Given the description of an element on the screen output the (x, y) to click on. 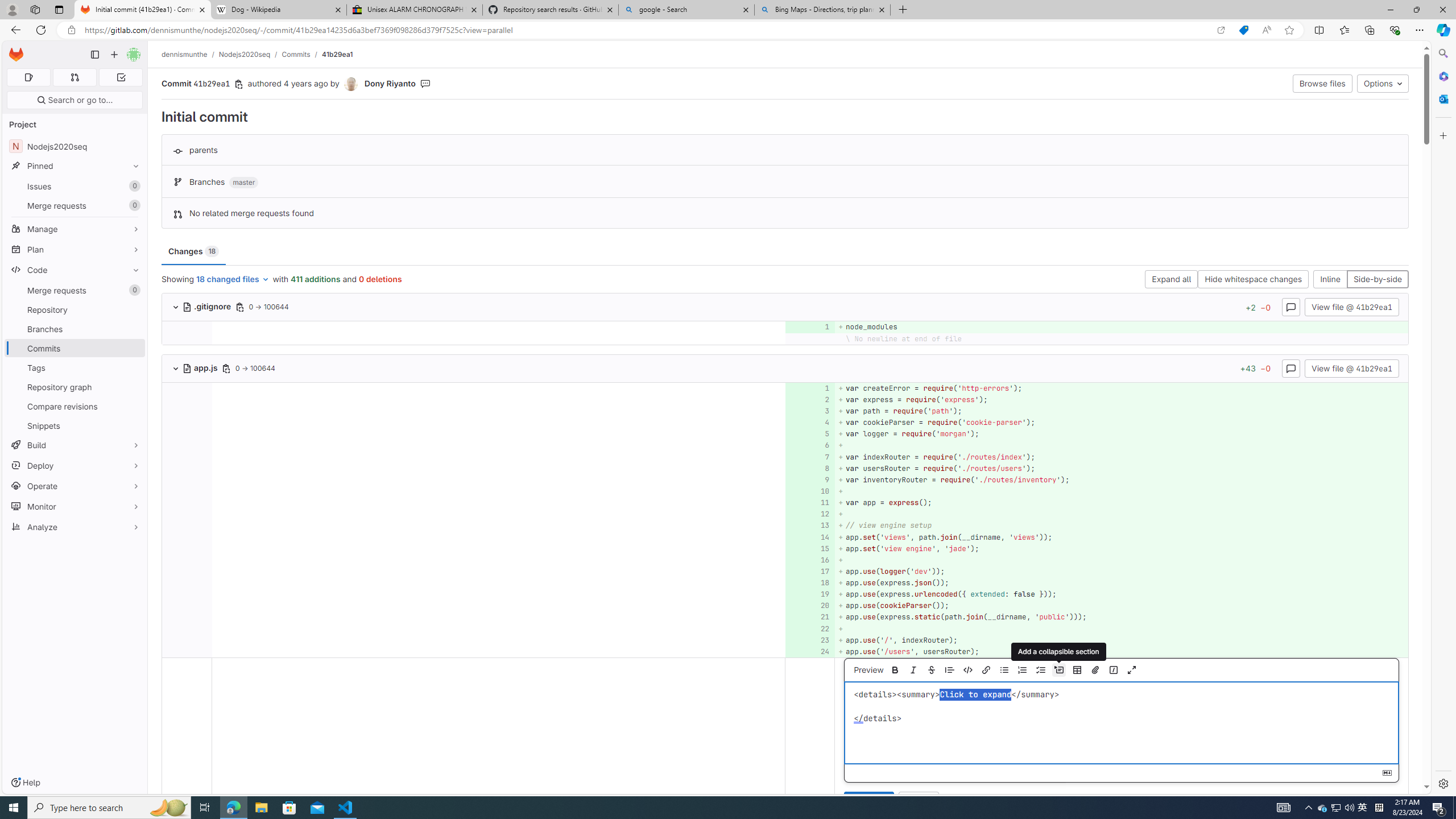
Repository (74, 309)
Nodejs2020seq (244, 53)
NNodejs2020seq (74, 145)
Commits (74, 348)
+ // view engine setup  (1120, 525)
Add a comment to this line 5 (809, 434)
Code (74, 269)
Repository (74, 309)
22 (808, 628)
+ var app = express();  (1120, 503)
3 (808, 410)
9 (808, 479)
7 (808, 456)
+ var logger = require('morgan');  (1120, 434)
